Given the description of an element on the screen output the (x, y) to click on. 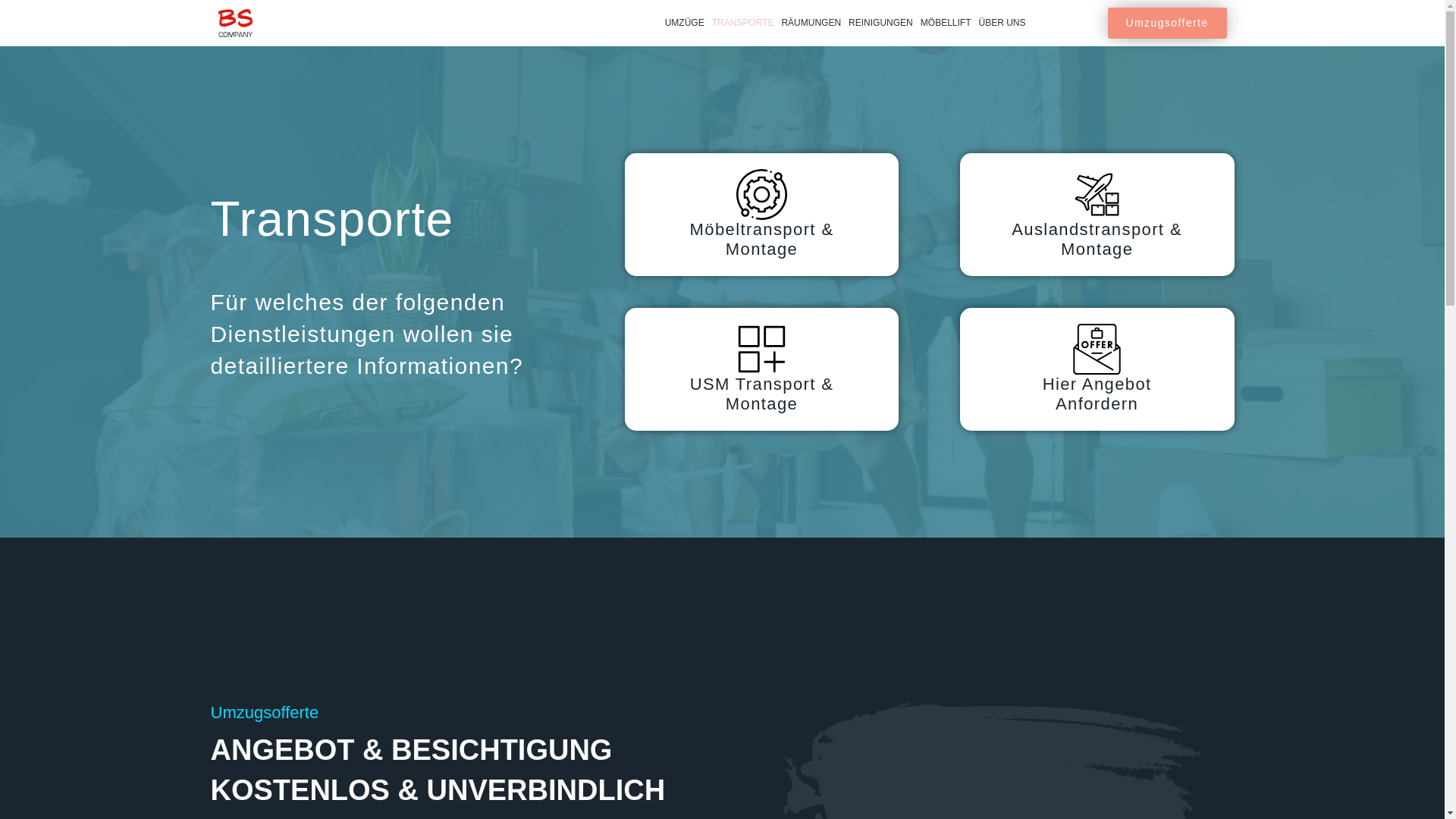
REINIGUNGEN Element type: text (880, 22)
Hier Angebot Anfordern Element type: text (1097, 368)
TRANSPORTE Element type: text (743, 22)
Umzugsofferte Element type: text (1166, 22)
USM Transport & Montage Element type: text (761, 368)
Auslandstransport & Montage Element type: text (1097, 214)
